Given the description of an element on the screen output the (x, y) to click on. 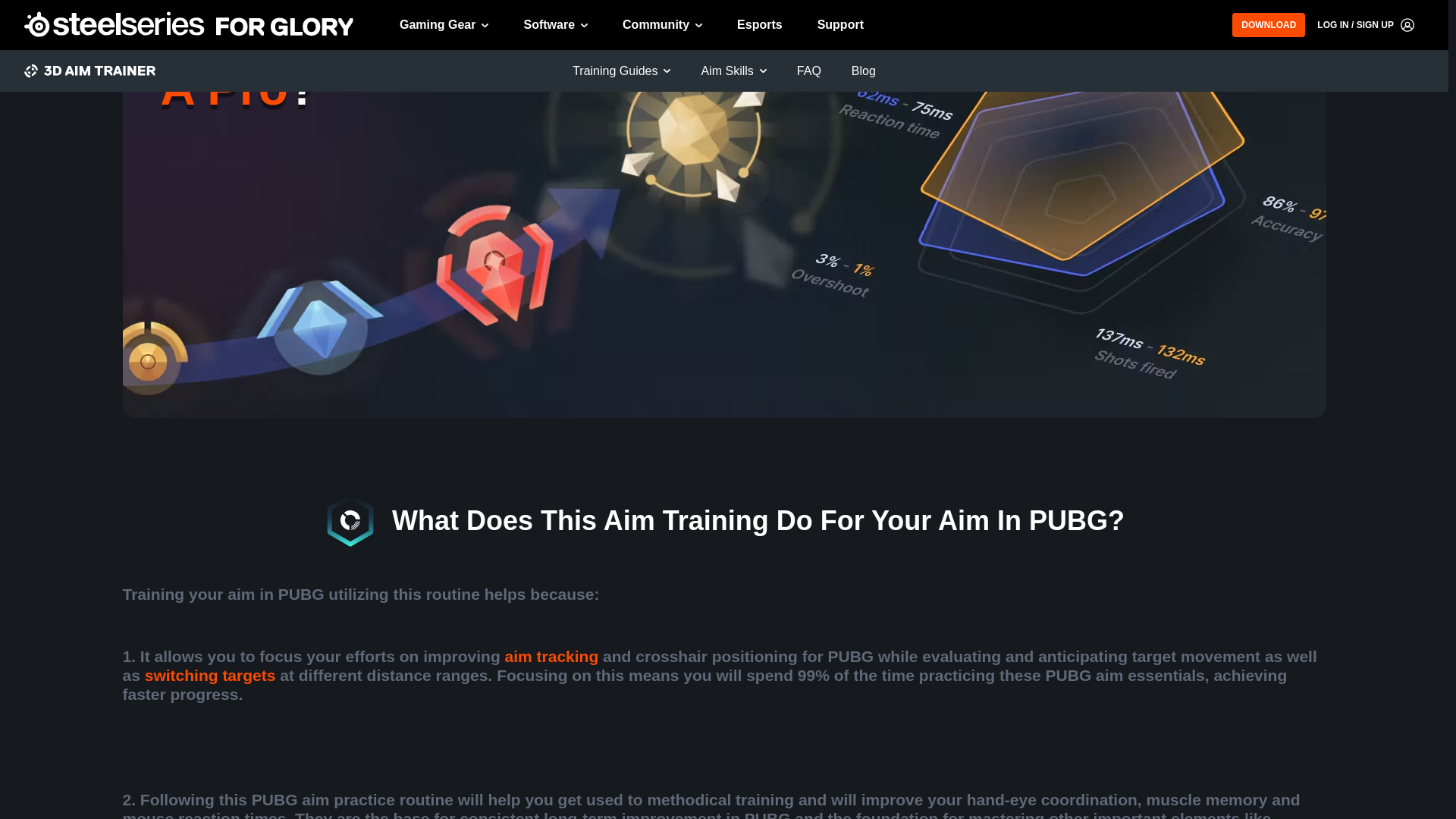
switching targets (210, 674)
aim tracking (551, 656)
